Given the description of an element on the screen output the (x, y) to click on. 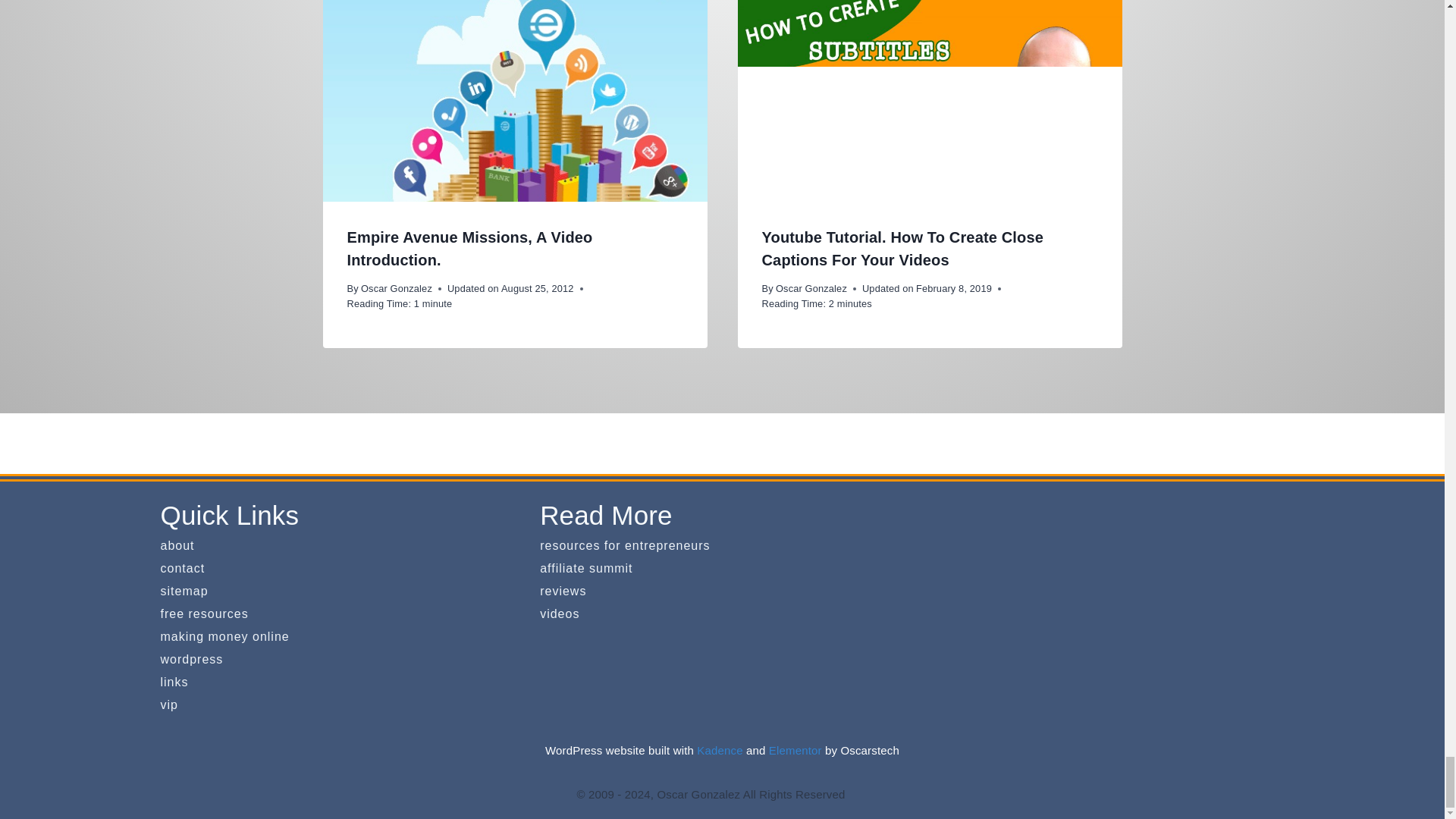
Elementor (795, 749)
Kadence WP (719, 749)
